Given the description of an element on the screen output the (x, y) to click on. 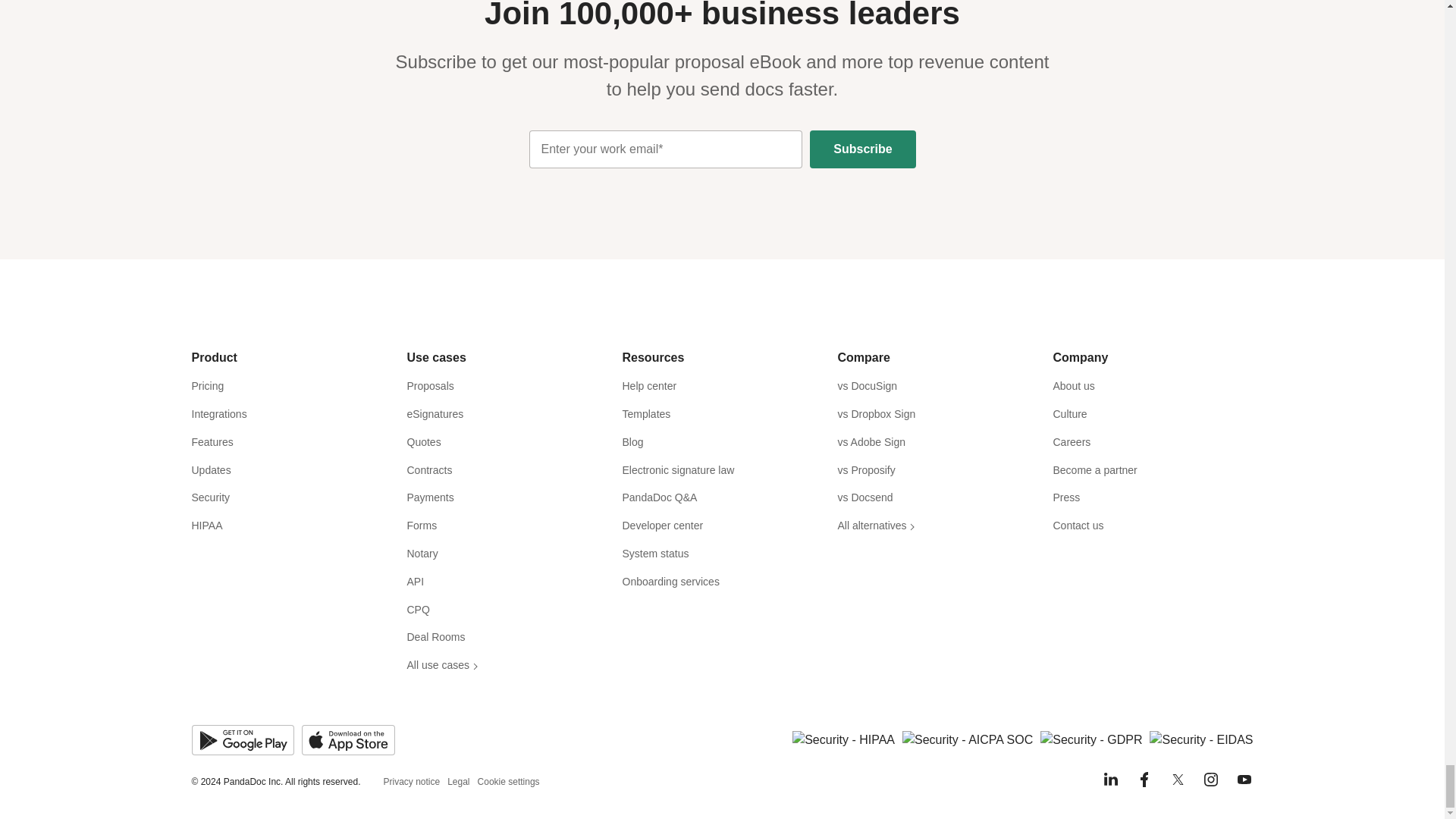
Youtube (1243, 779)
LinkedIn (1109, 779)
Facebook (1143, 779)
Twitter (1176, 779)
Instagram (1210, 779)
Subscribe (862, 149)
